Given the description of an element on the screen output the (x, y) to click on. 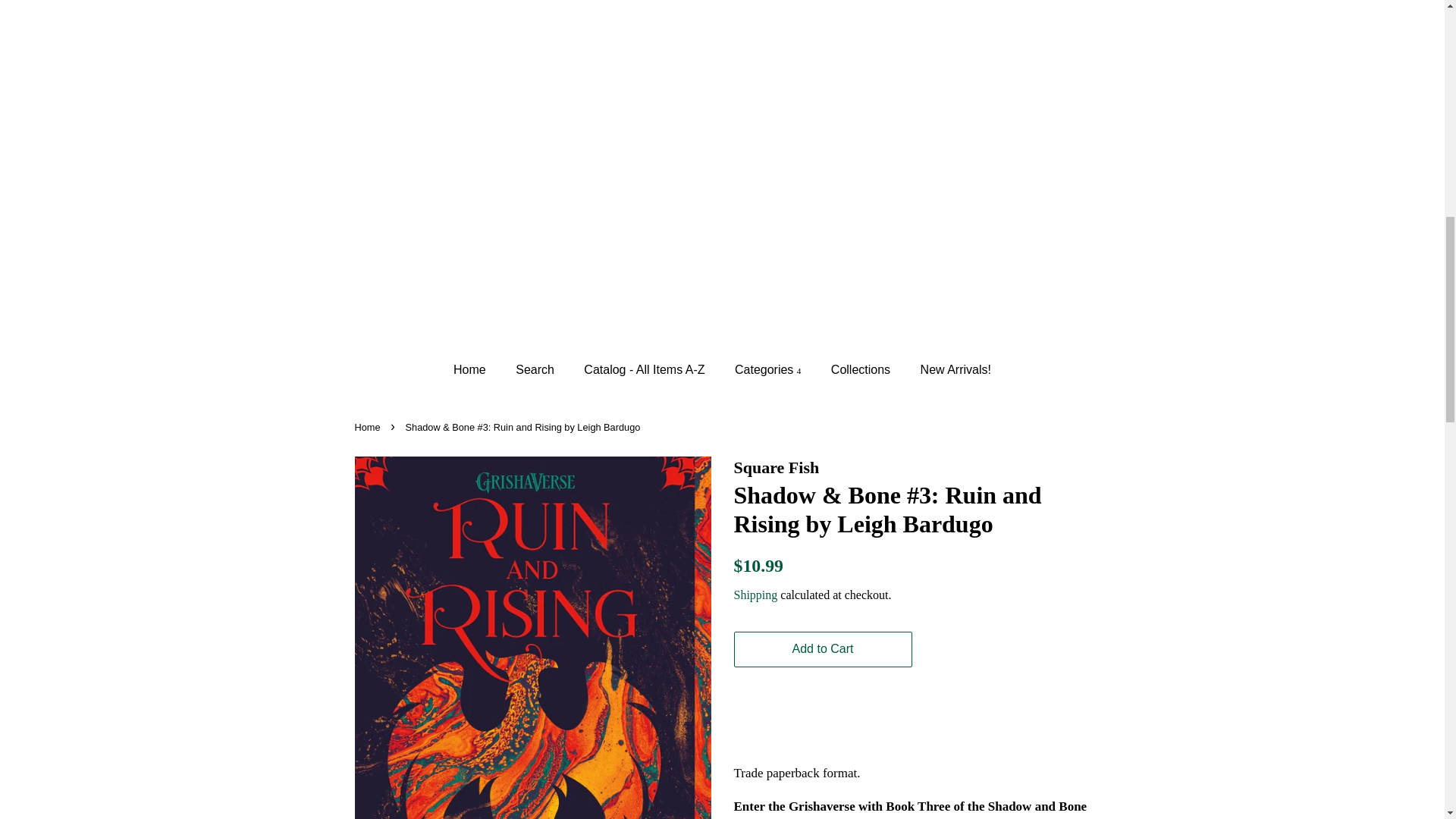
Back to the frontpage (369, 427)
